Given the description of an element on the screen output the (x, y) to click on. 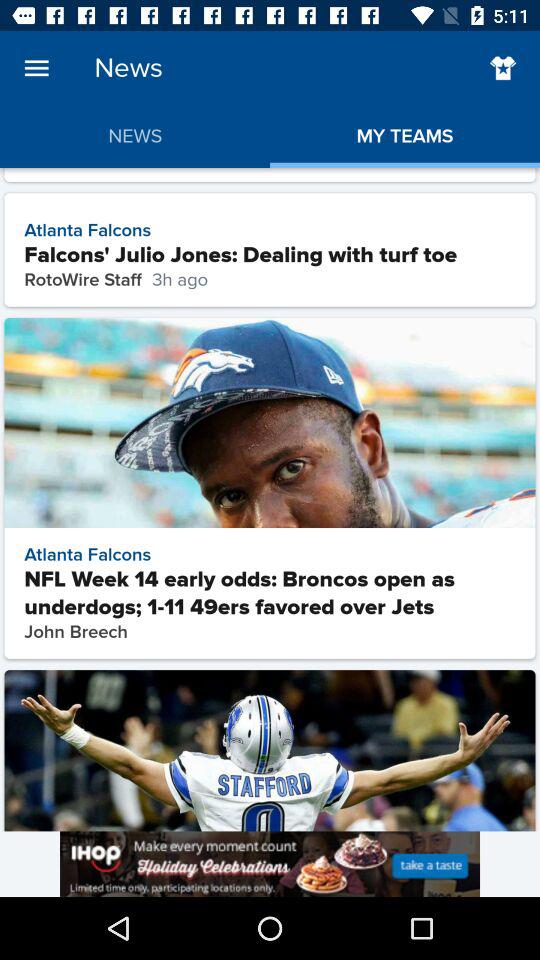
go to ihop (270, 864)
